Given the description of an element on the screen output the (x, y) to click on. 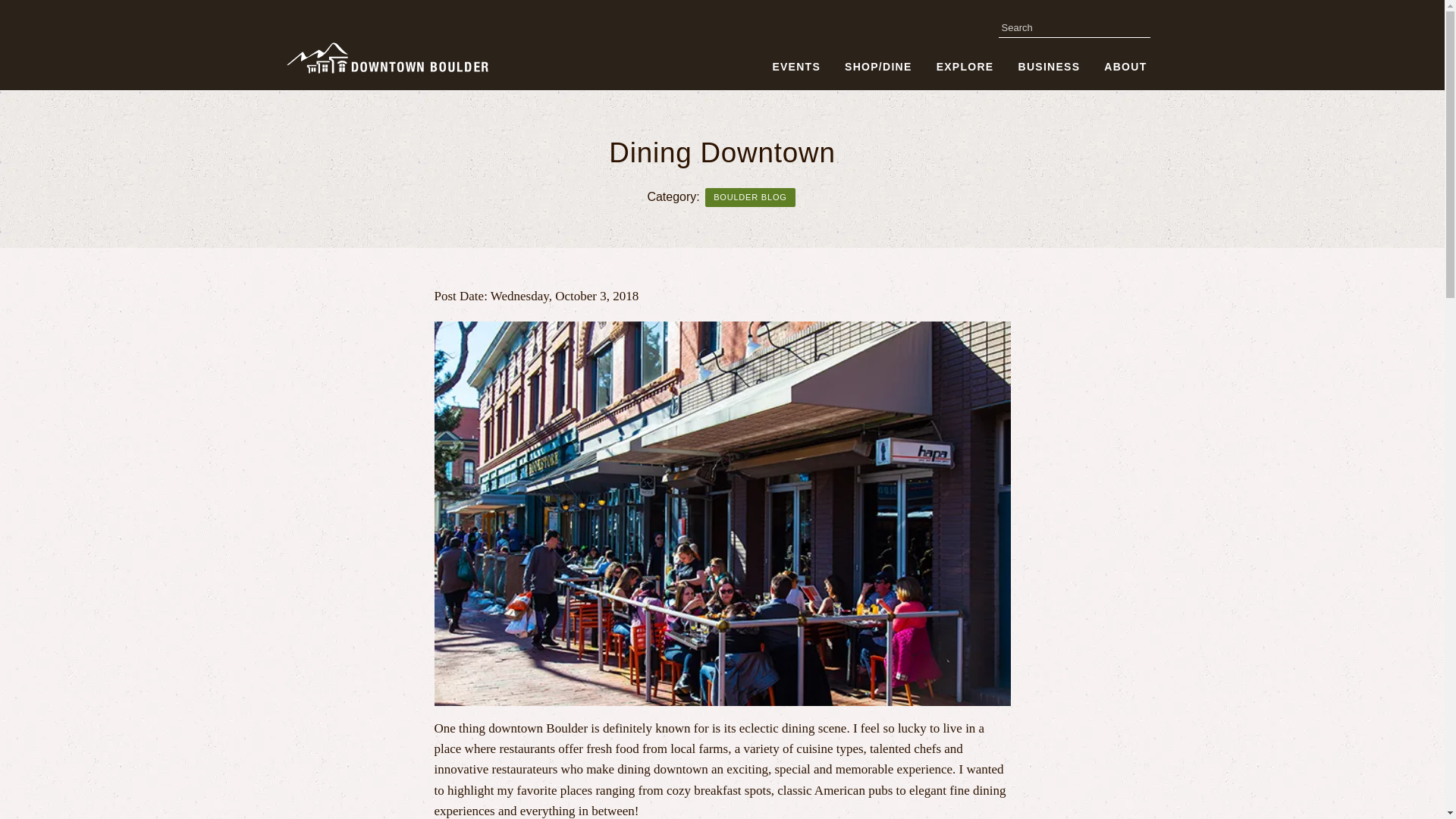
EXPLORE (965, 66)
EVENTS (796, 66)
